Given the description of an element on the screen output the (x, y) to click on. 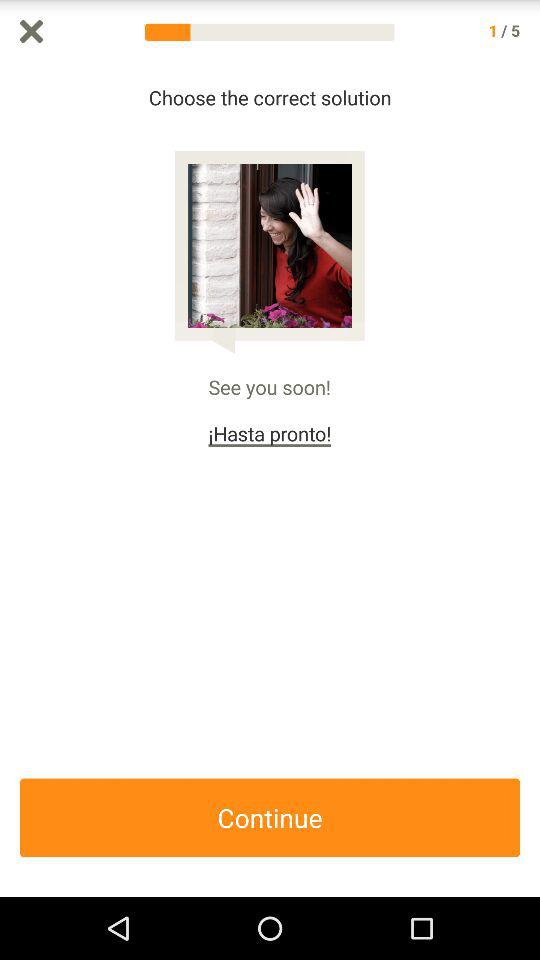
turn off item below 5 (530, 480)
